Given the description of an element on the screen output the (x, y) to click on. 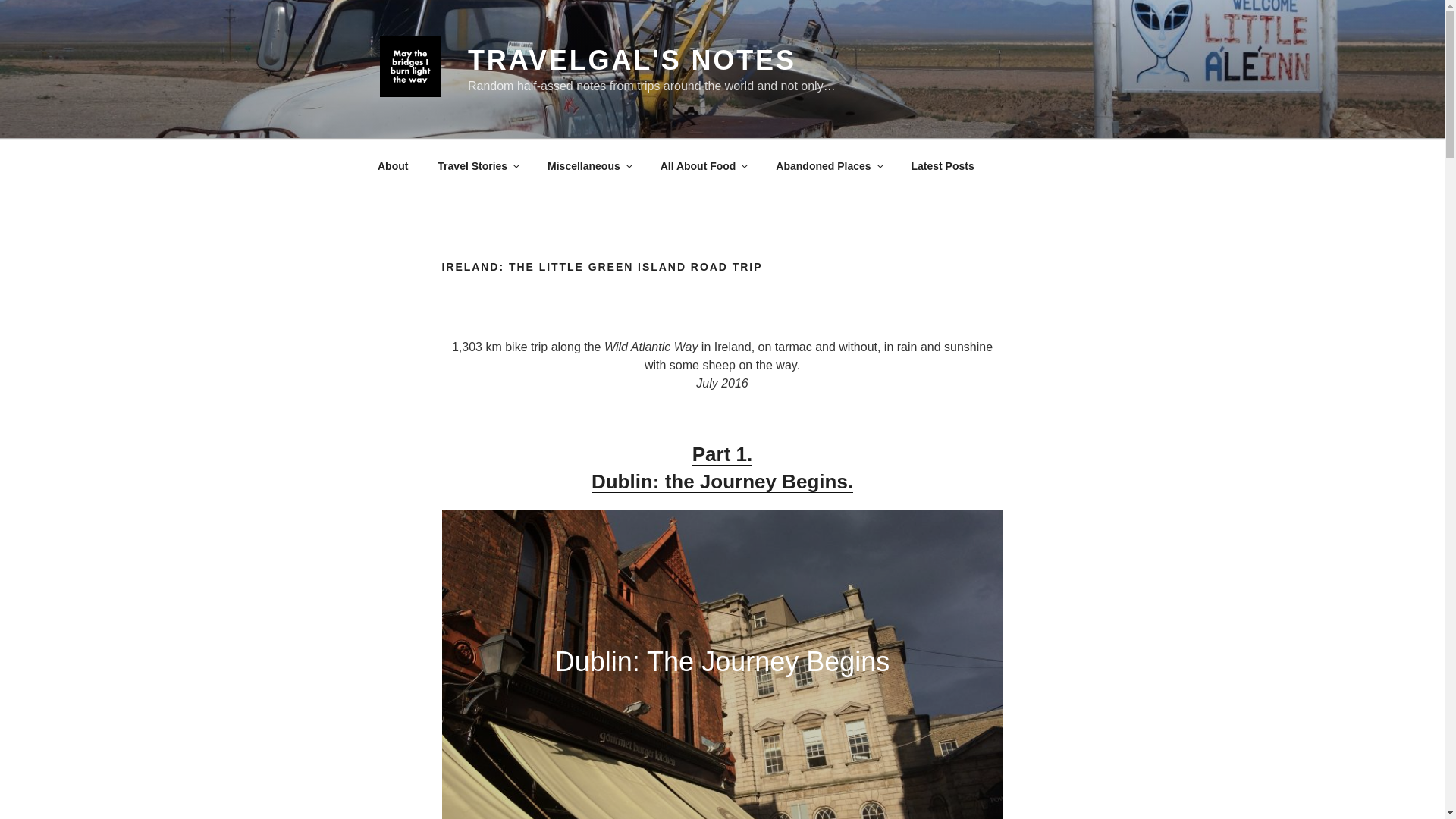
Abandoned Places (828, 165)
Travel Stories (478, 165)
About (722, 468)
Latest Posts (392, 165)
TRAVELGAL'S NOTES (942, 165)
All About Food (631, 60)
Miscellaneous (703, 165)
